Given the description of an element on the screen output the (x, y) to click on. 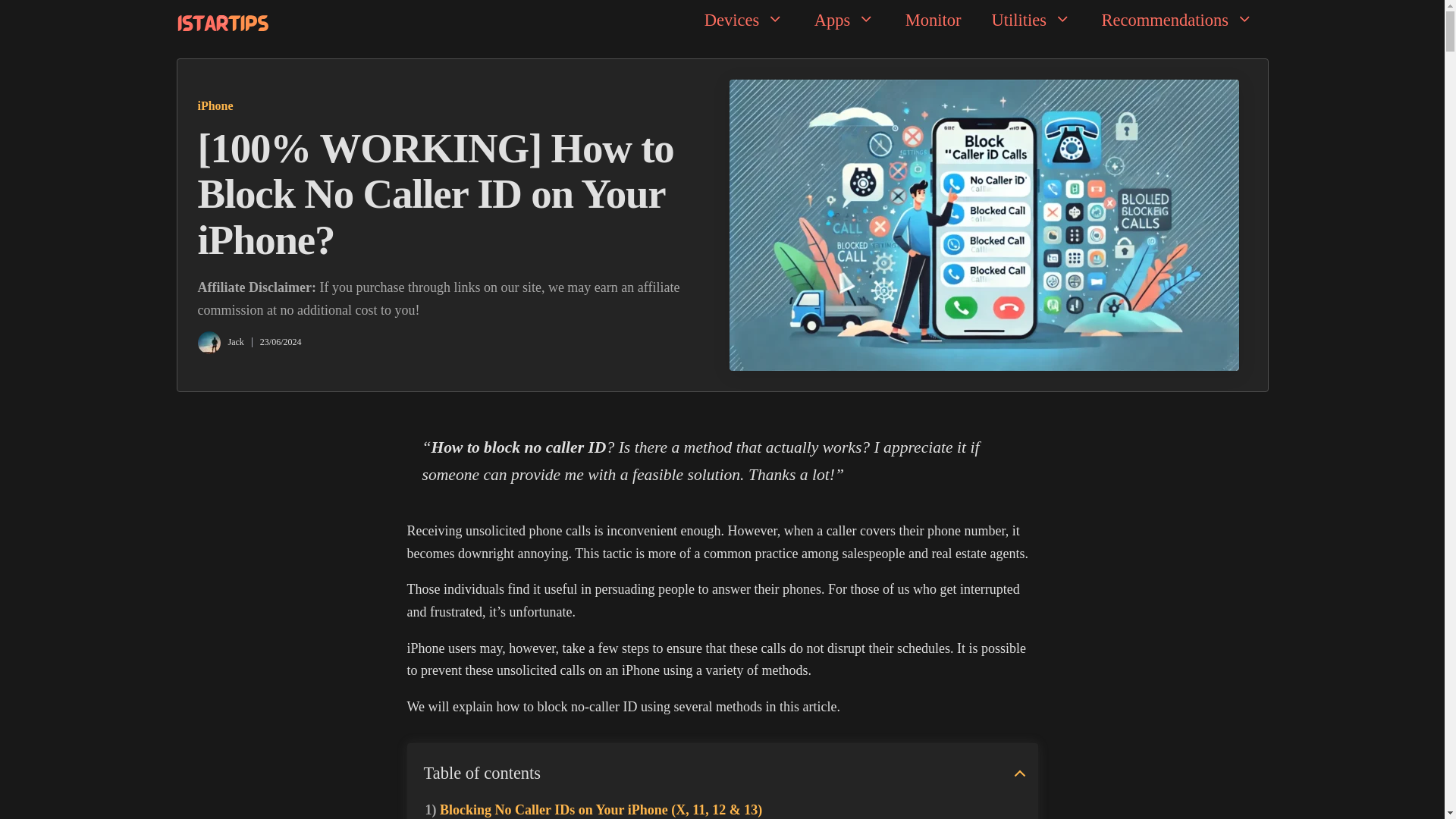
iPhone (214, 105)
Monitor (932, 20)
Devices (743, 20)
Recommendations (1177, 20)
iStarTips (221, 21)
Apps (844, 20)
Utilities (1031, 20)
